Given the description of an element on the screen output the (x, y) to click on. 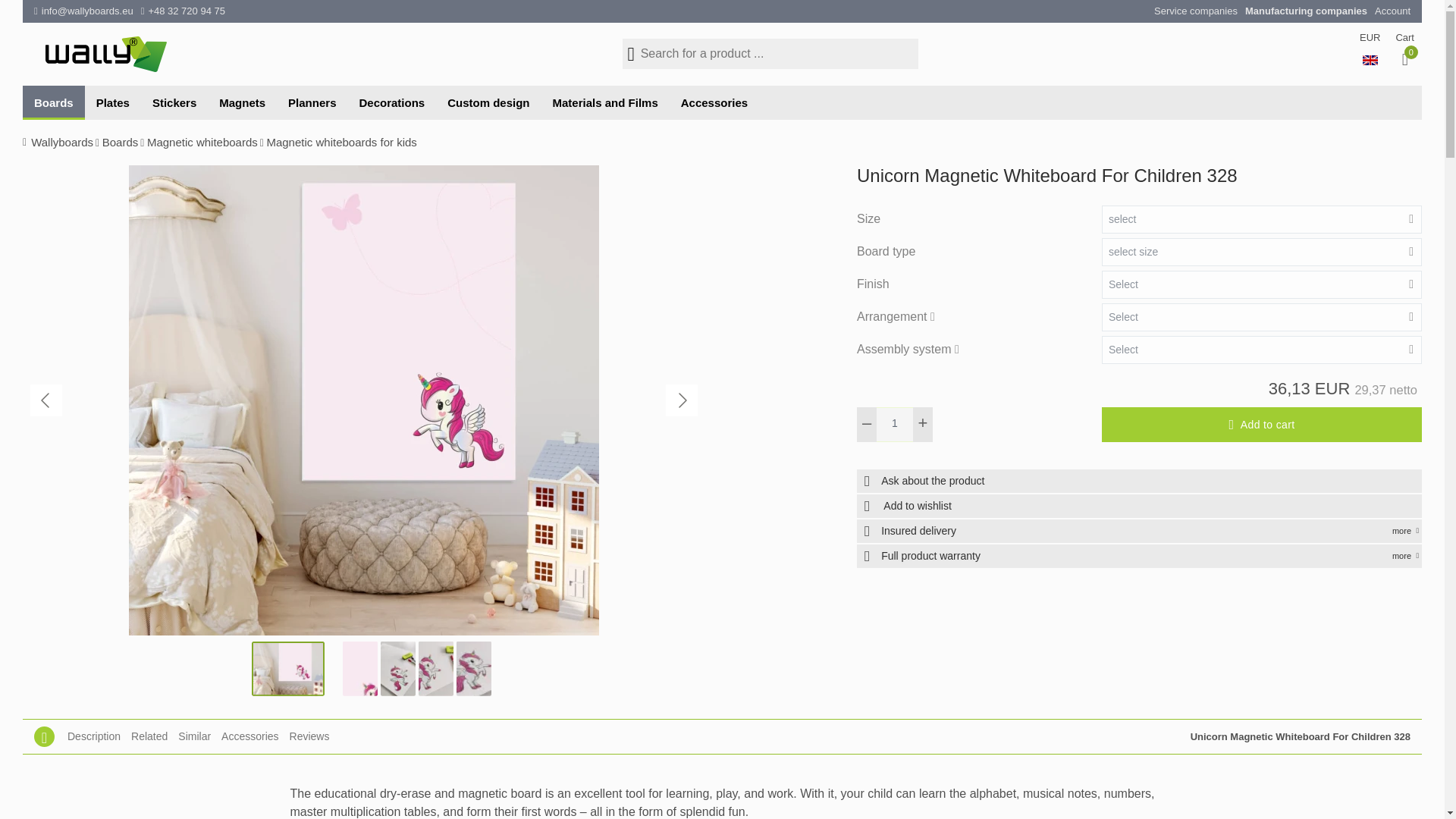
Service companies (1195, 10)
Manufacturing companies (1305, 10)
1 (895, 424)
Account (1392, 10)
Account (1392, 10)
